Given the description of an element on the screen output the (x, y) to click on. 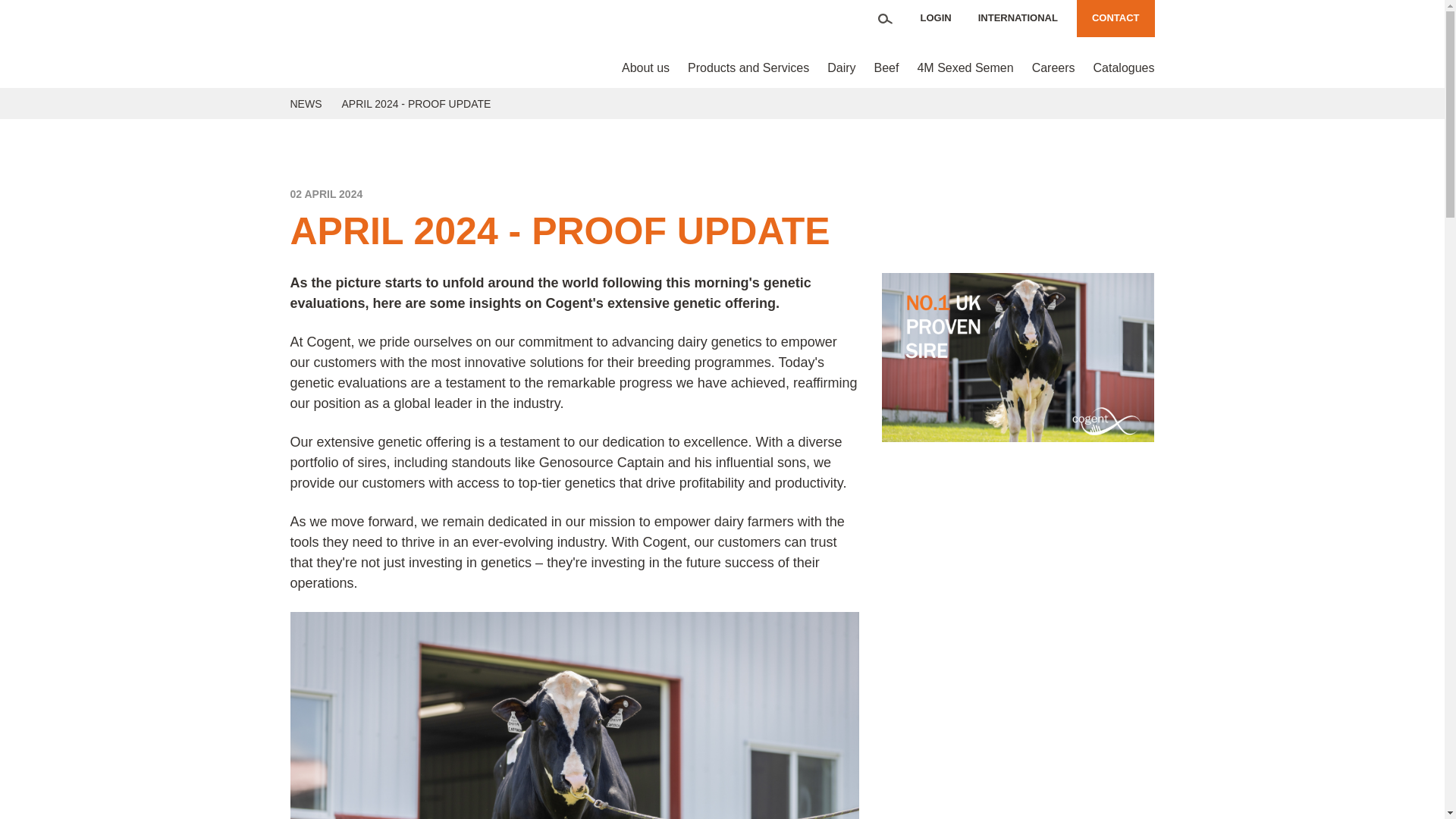
Dairy (841, 66)
INTERNATIONAL (1018, 18)
LOGIN (935, 18)
Cogent UK (368, 43)
Beef (886, 66)
About us (645, 66)
Products and Services (748, 66)
CONTACT (1115, 18)
